Given the description of an element on the screen output the (x, y) to click on. 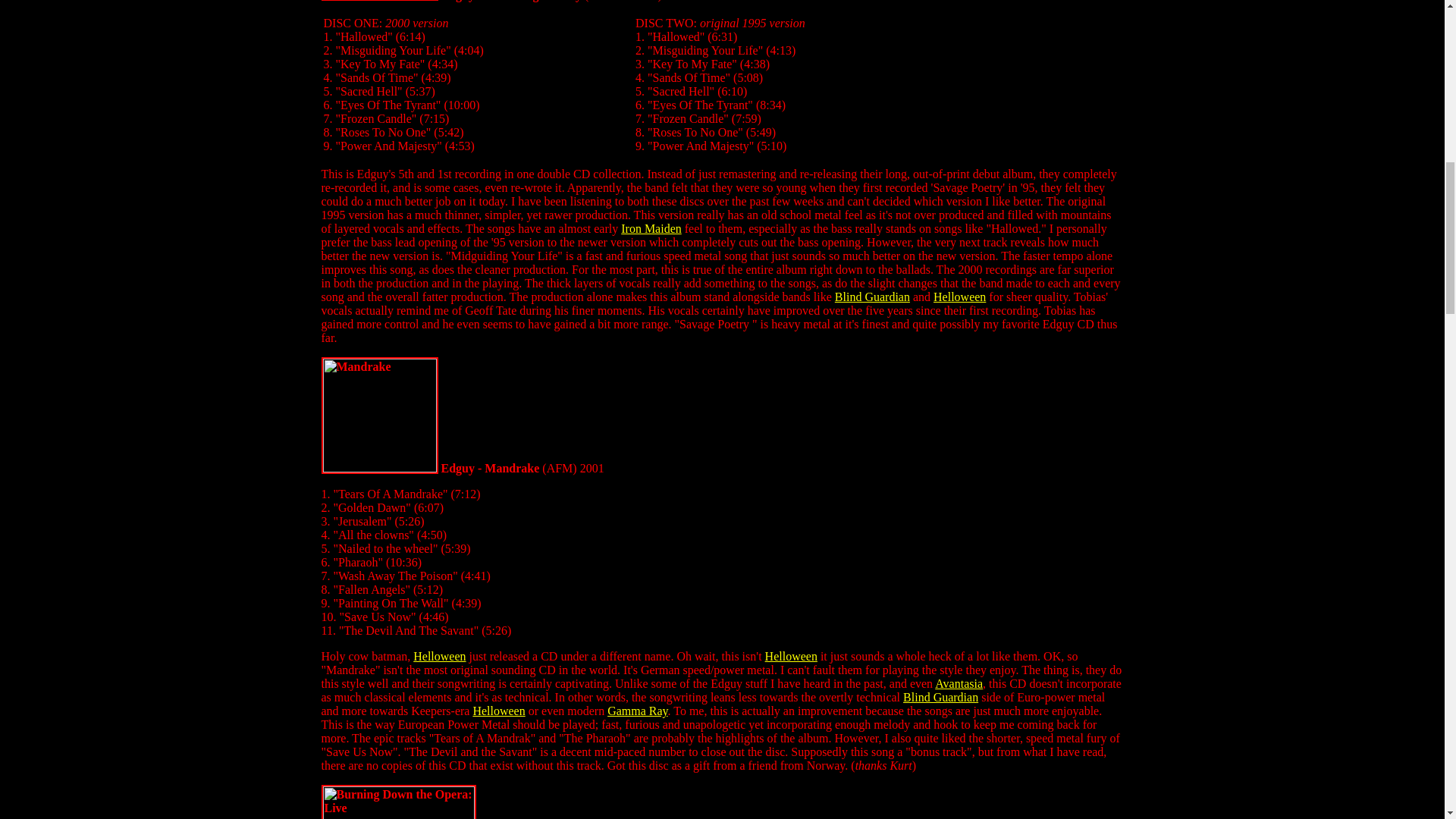
Helloween (497, 710)
Helloween (790, 656)
Avantasia (958, 683)
Helloween (439, 656)
Blind Guardian (872, 296)
Helloween (959, 296)
Iron Maiden (651, 228)
Blind Guardian (940, 697)
Gamma Ray (636, 710)
